Given the description of an element on the screen output the (x, y) to click on. 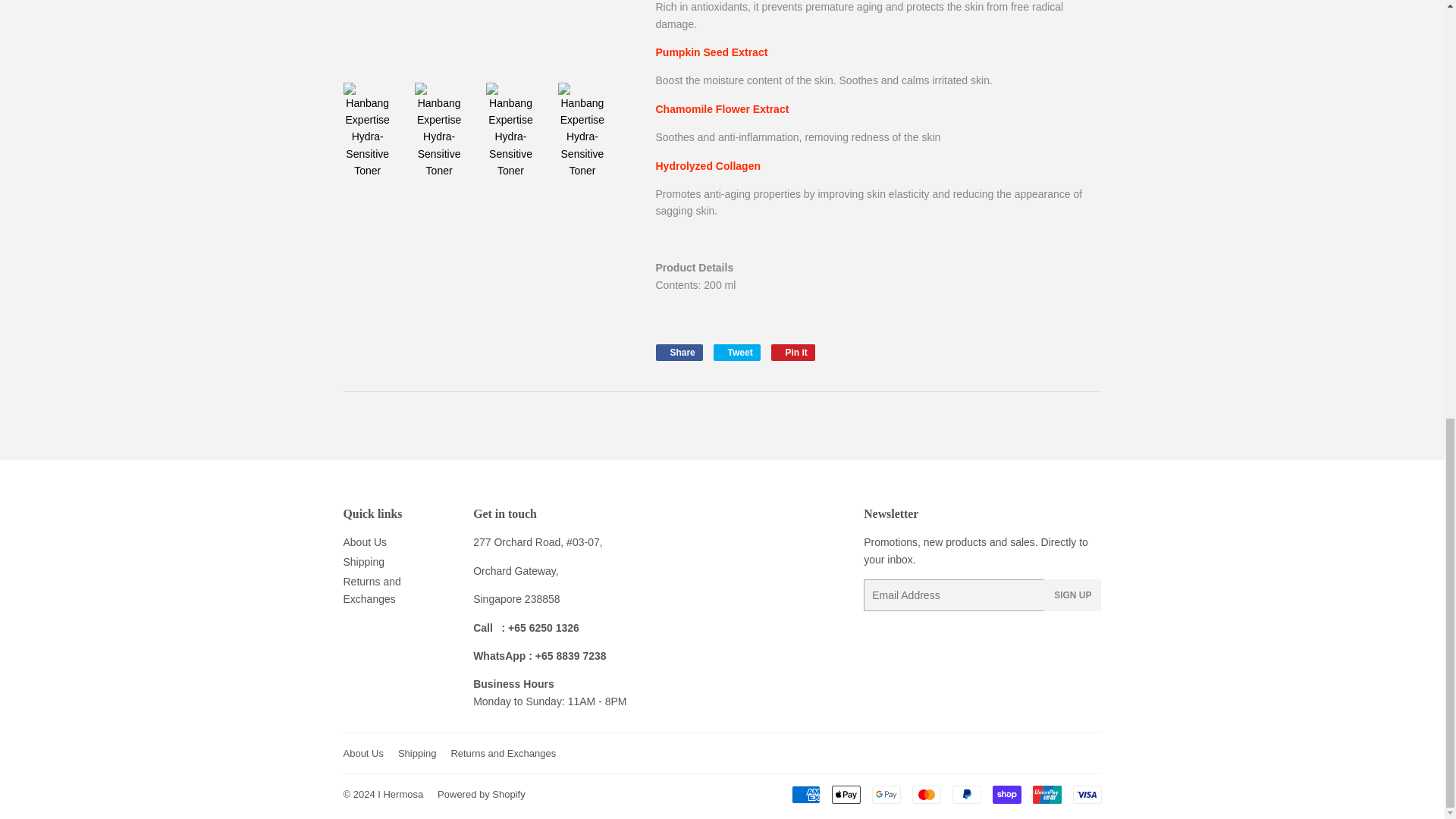
Tweet on Twitter (736, 352)
American Express (806, 794)
Shop Pay (1005, 794)
Google Pay (886, 794)
Visa (1085, 794)
Share on Facebook (678, 352)
Union Pay (1046, 794)
Mastercard (925, 794)
Pin on Pinterest (793, 352)
Apple Pay (845, 794)
